Given the description of an element on the screen output the (x, y) to click on. 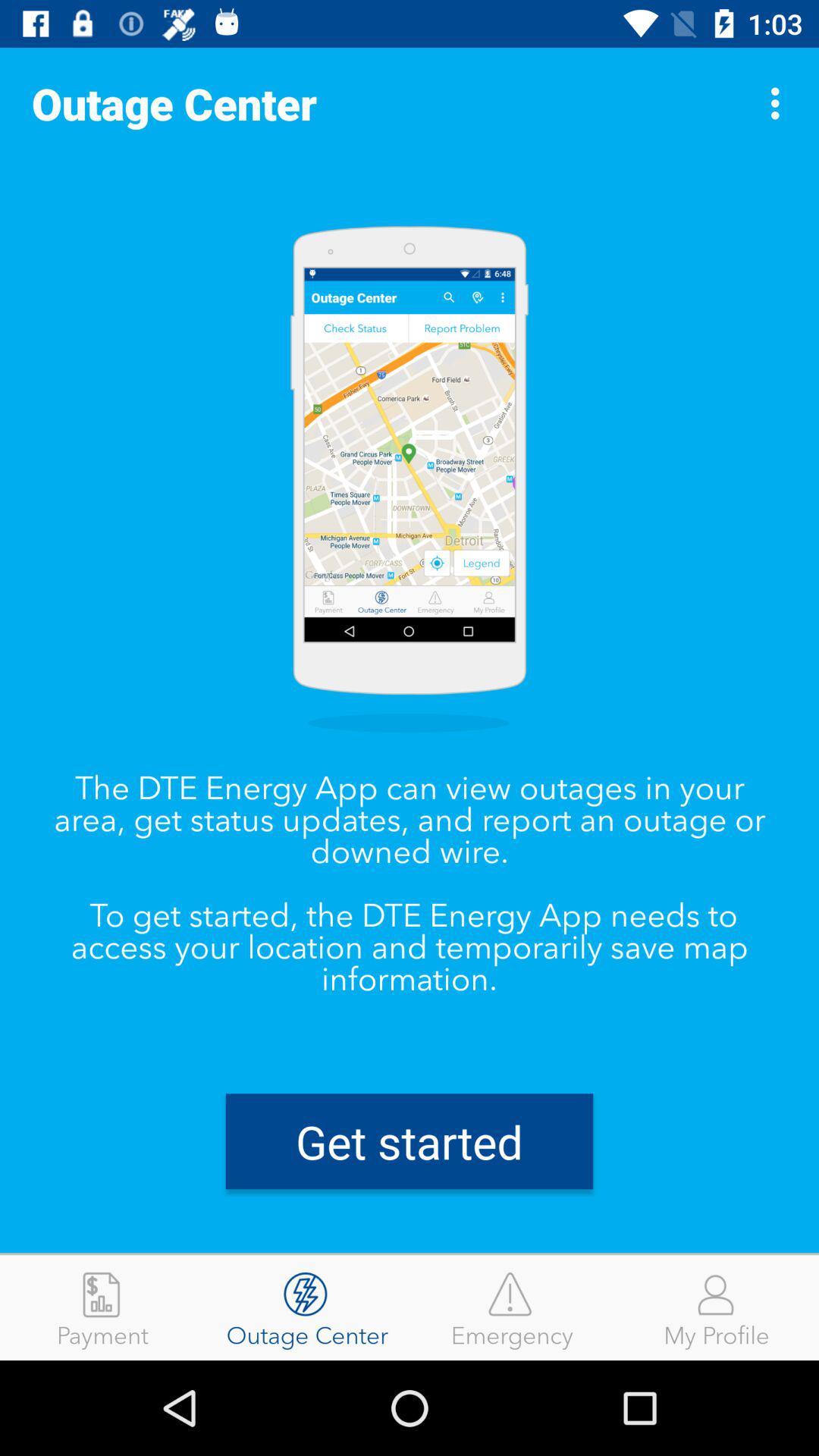
choose the payment icon (102, 1307)
